Given the description of an element on the screen output the (x, y) to click on. 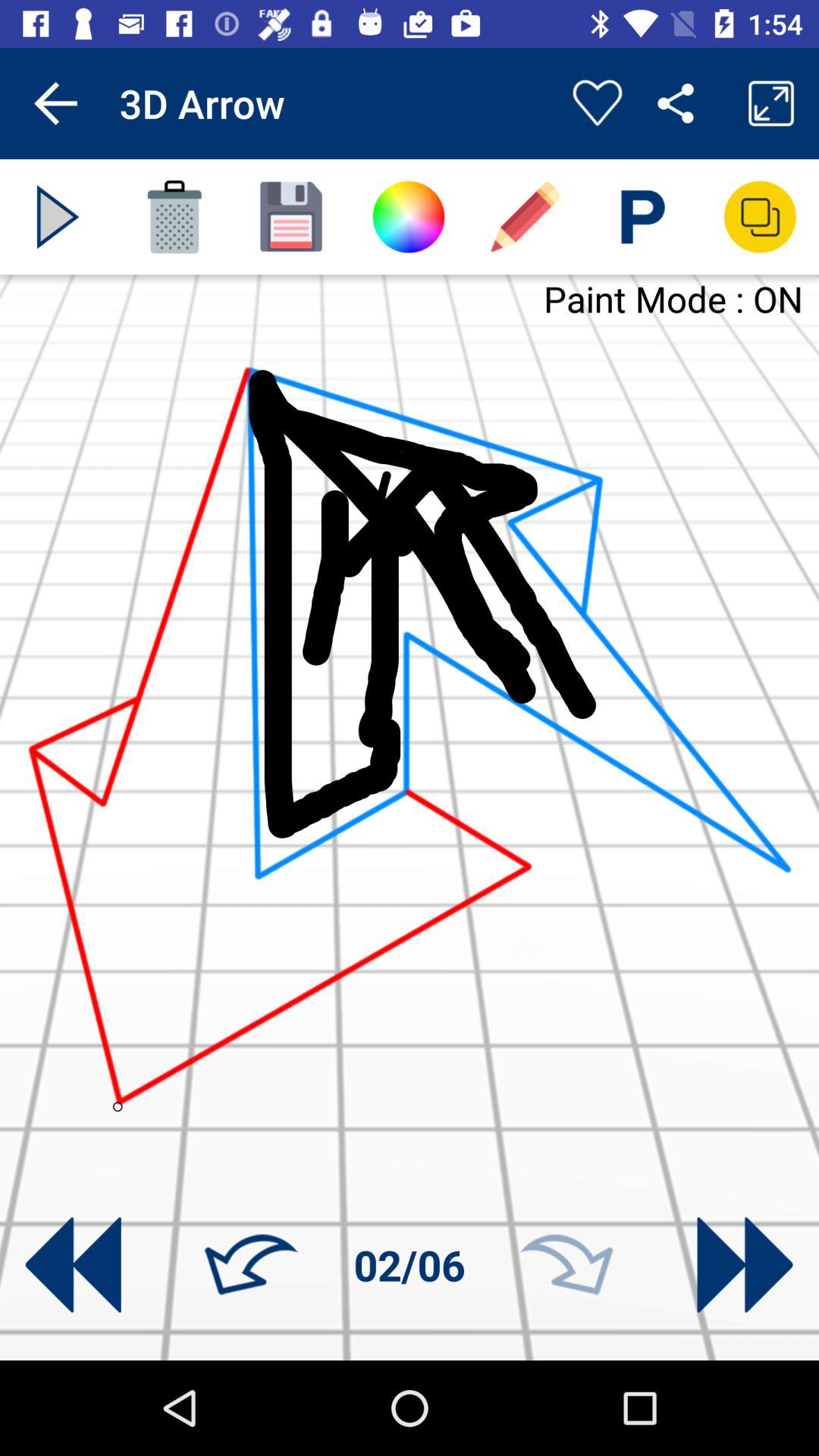
change colors (408, 216)
